Given the description of an element on the screen output the (x, y) to click on. 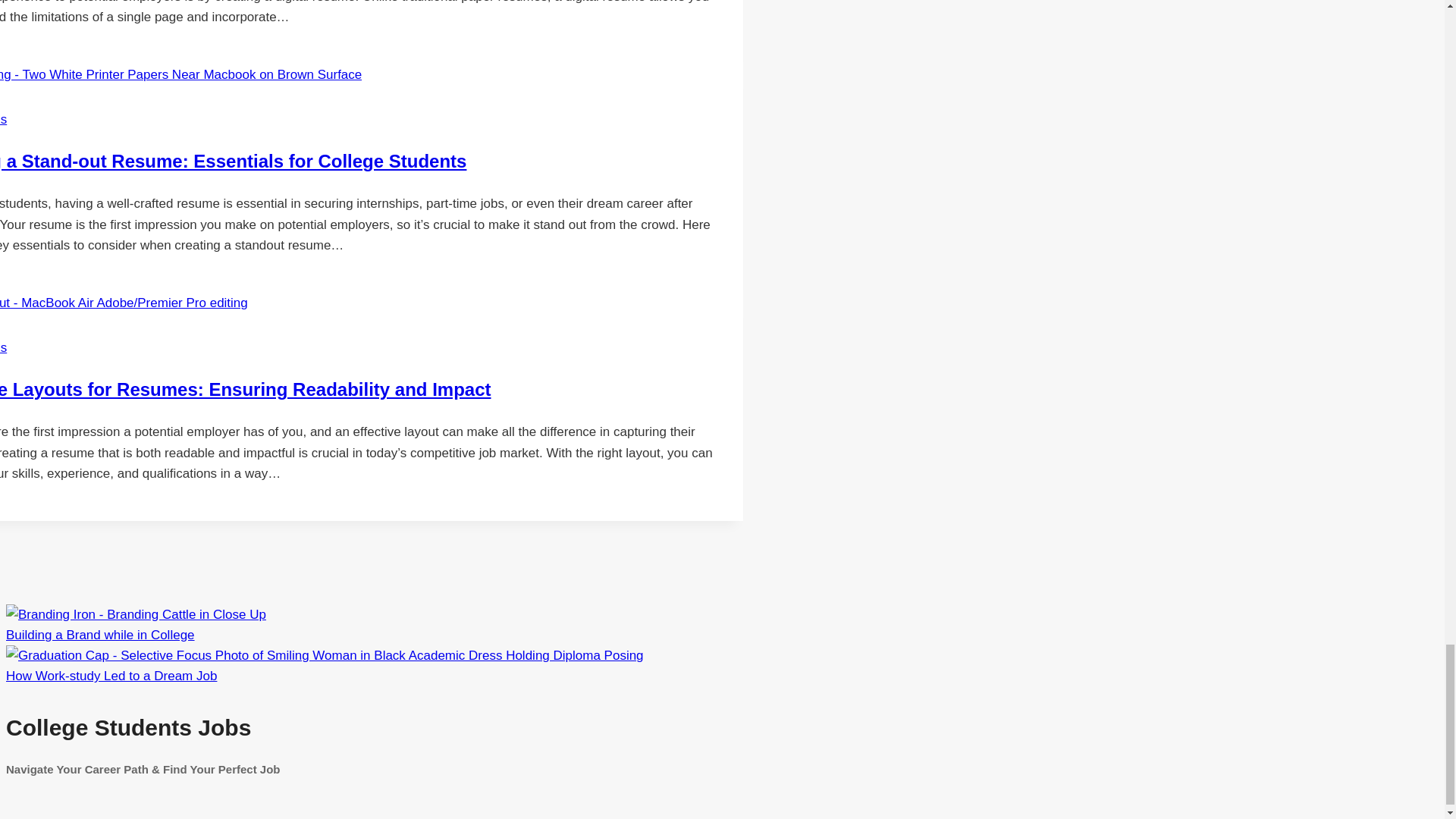
Building a Brand while in College (100, 635)
Building a Brand while in College (135, 614)
How Work-study Led to a Dream Job (324, 655)
Crafting a Stand-out Resume: Essentials for College Students (232, 160)
Resume Tips (3, 119)
Resume Tips (3, 347)
How Work-study Led to a Dream Job (110, 676)
